Given the description of an element on the screen output the (x, y) to click on. 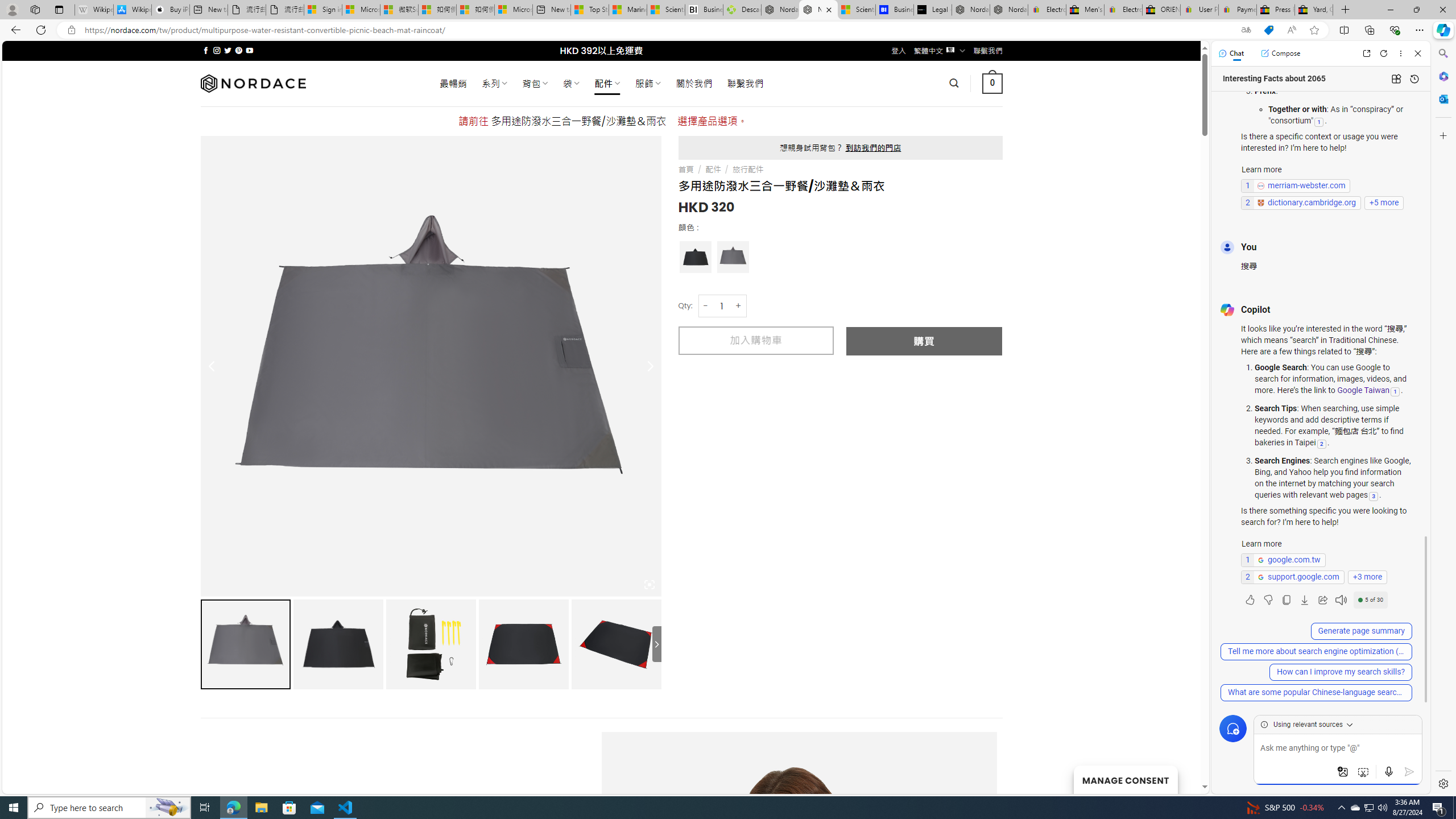
- (705, 305)
 0  (992, 83)
